Given the description of an element on the screen output the (x, y) to click on. 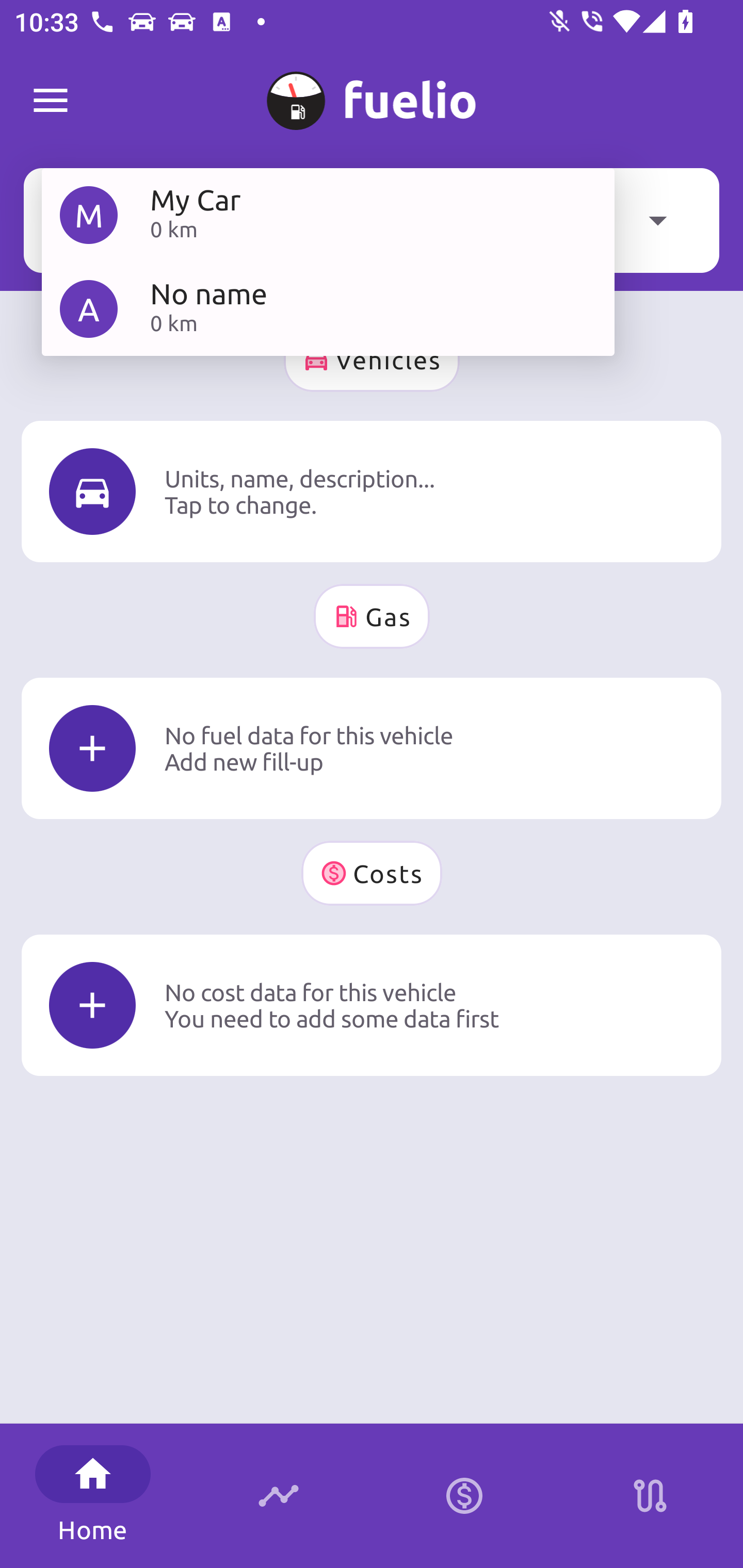
M My Car 0 km (327, 214)
A No name 0 km (327, 308)
